Given the description of an element on the screen output the (x, y) to click on. 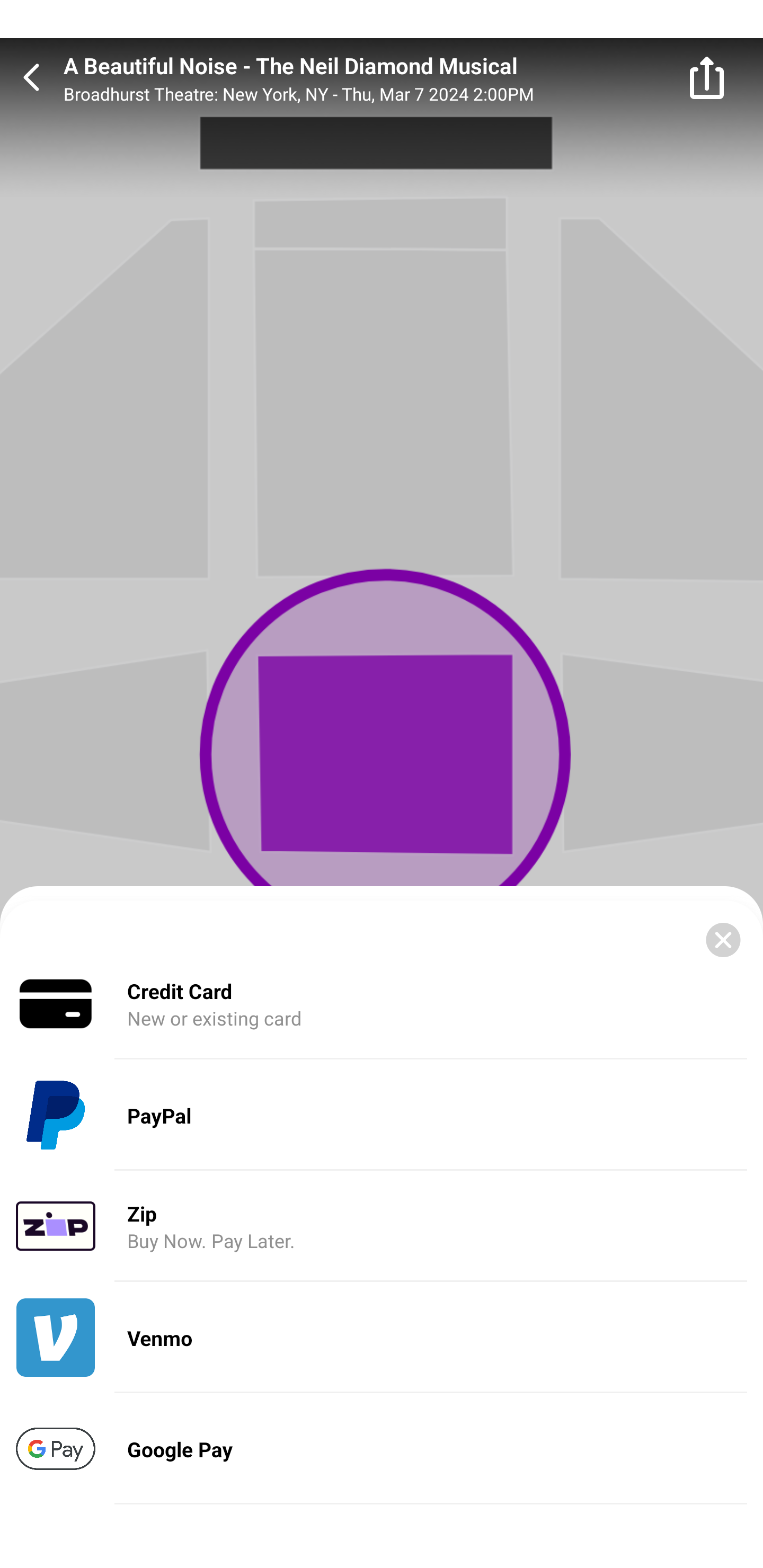
PayPal (381, 1115)
Zip, Buy Now. Pay Later. Zip Buy Now. Pay Later. (381, 1226)
Venmo (381, 1337)
Google Pay (381, 1448)
